Given the description of an element on the screen output the (x, y) to click on. 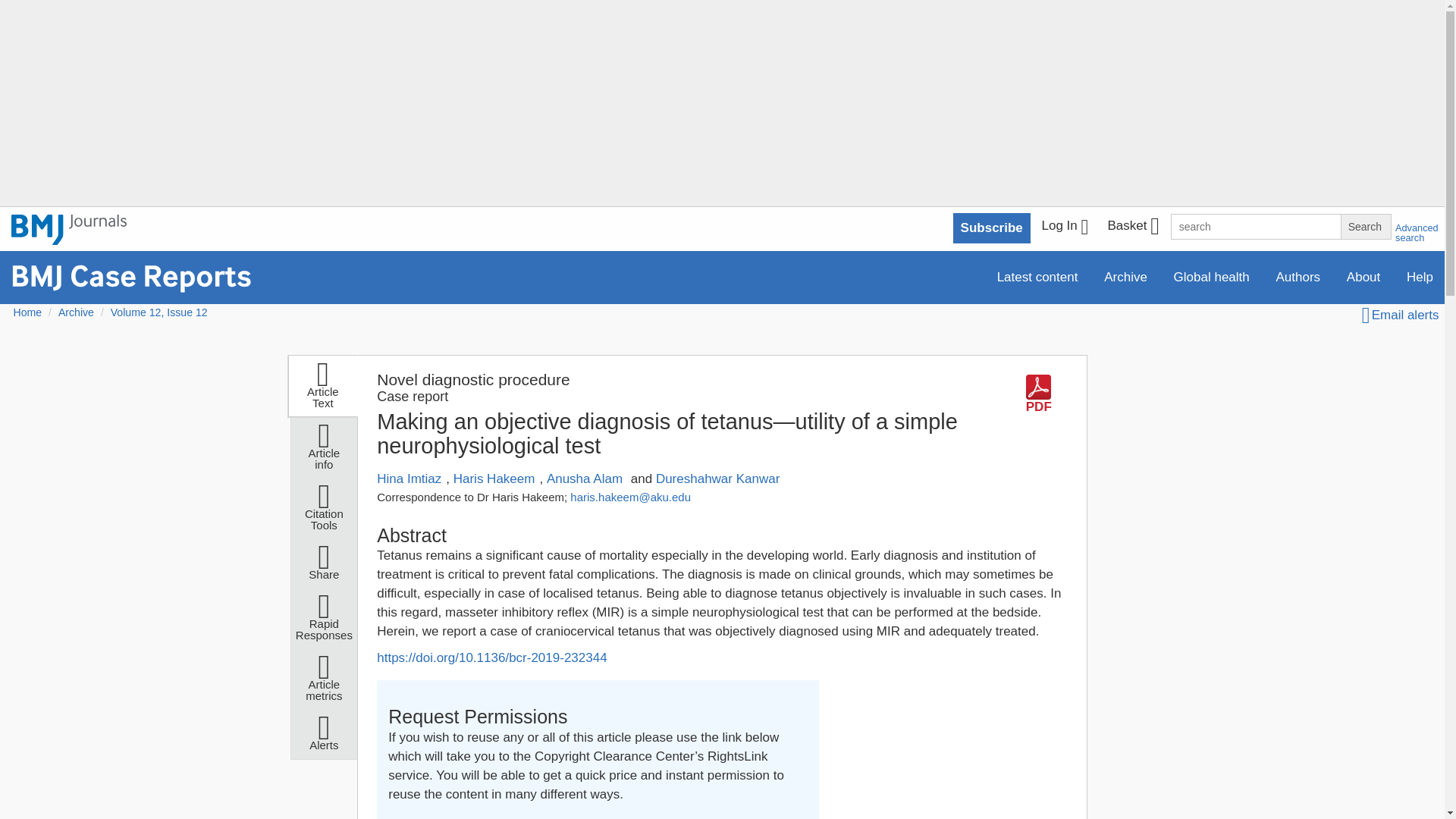
Subscribe (991, 227)
About (1363, 276)
Basket (1132, 228)
3rd party ad content (947, 733)
BMJ Journals (68, 229)
Archive (1125, 276)
Search (1364, 226)
Authors (1298, 276)
BMJ Journals (68, 237)
Log In (1064, 228)
